Given the description of an element on the screen output the (x, y) to click on. 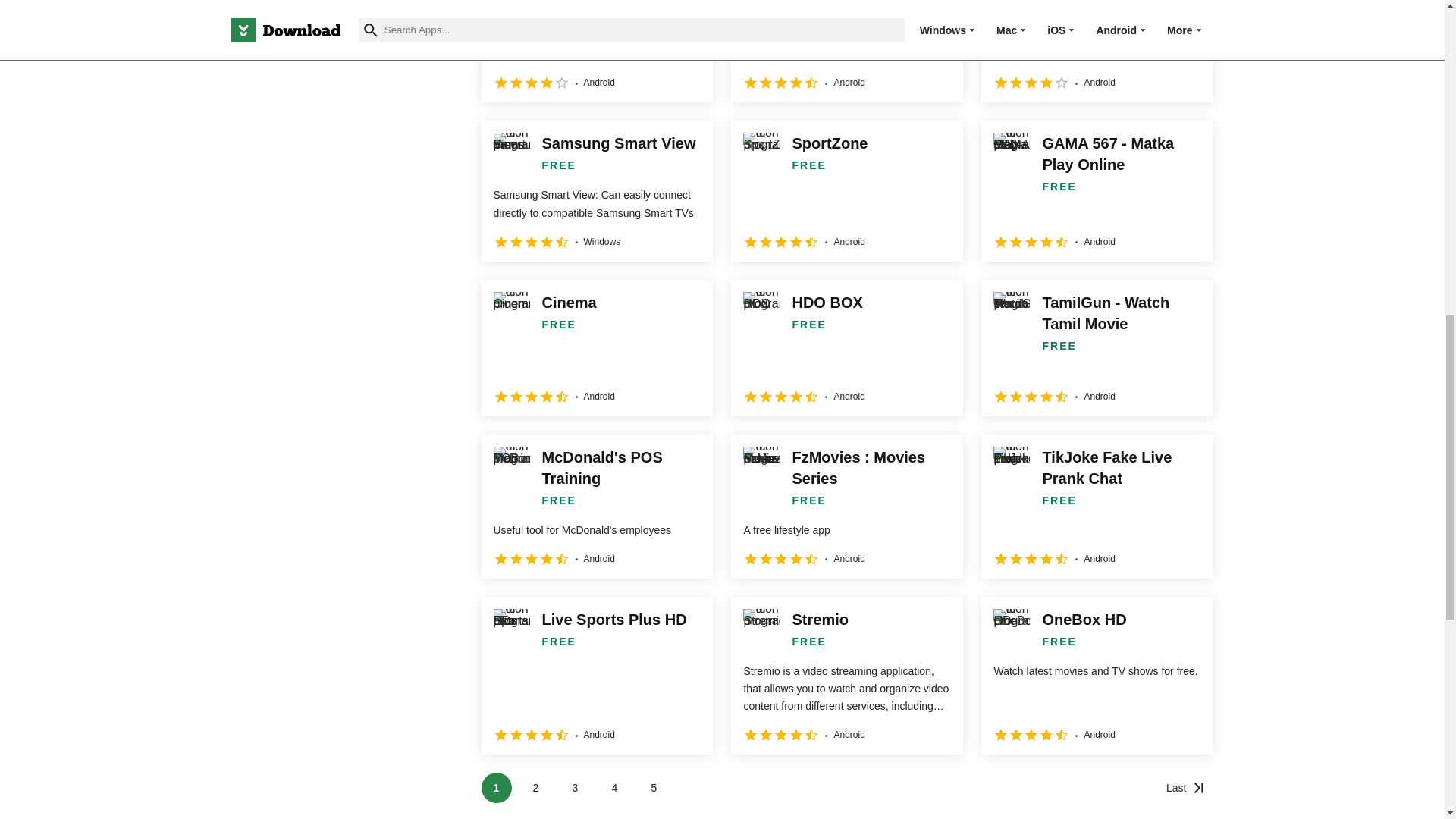
HDO BOX (846, 348)
Samsung Smart View (596, 190)
SportZone (846, 190)
DazcFutbolTv (596, 51)
McDonald's POS Training (596, 506)
Cinema (596, 348)
GAMA 567 - Matka Play Online (1096, 190)
FzMovies : Movies  Series (846, 506)
TamilGun - Watch Tamil Movie (1096, 348)
Dev IPTV Player Pro (1096, 51)
